Given the description of an element on the screen output the (x, y) to click on. 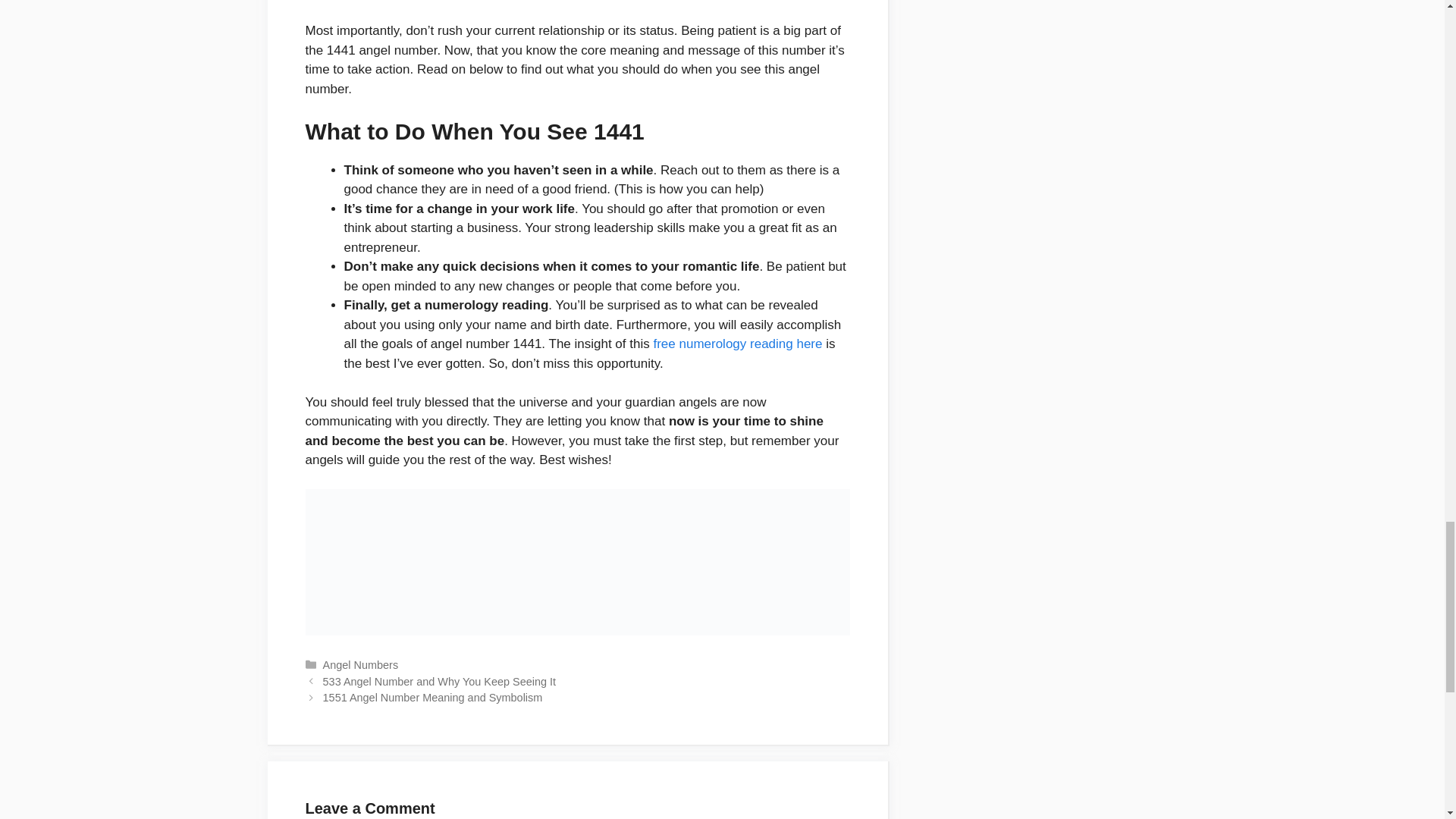
533 Angel Number and Why You Keep Seeing It (439, 681)
1551 Angel Number Meaning and Symbolism (433, 697)
free numerology reading here (737, 343)
Angel Numbers (360, 664)
